Given the description of an element on the screen output the (x, y) to click on. 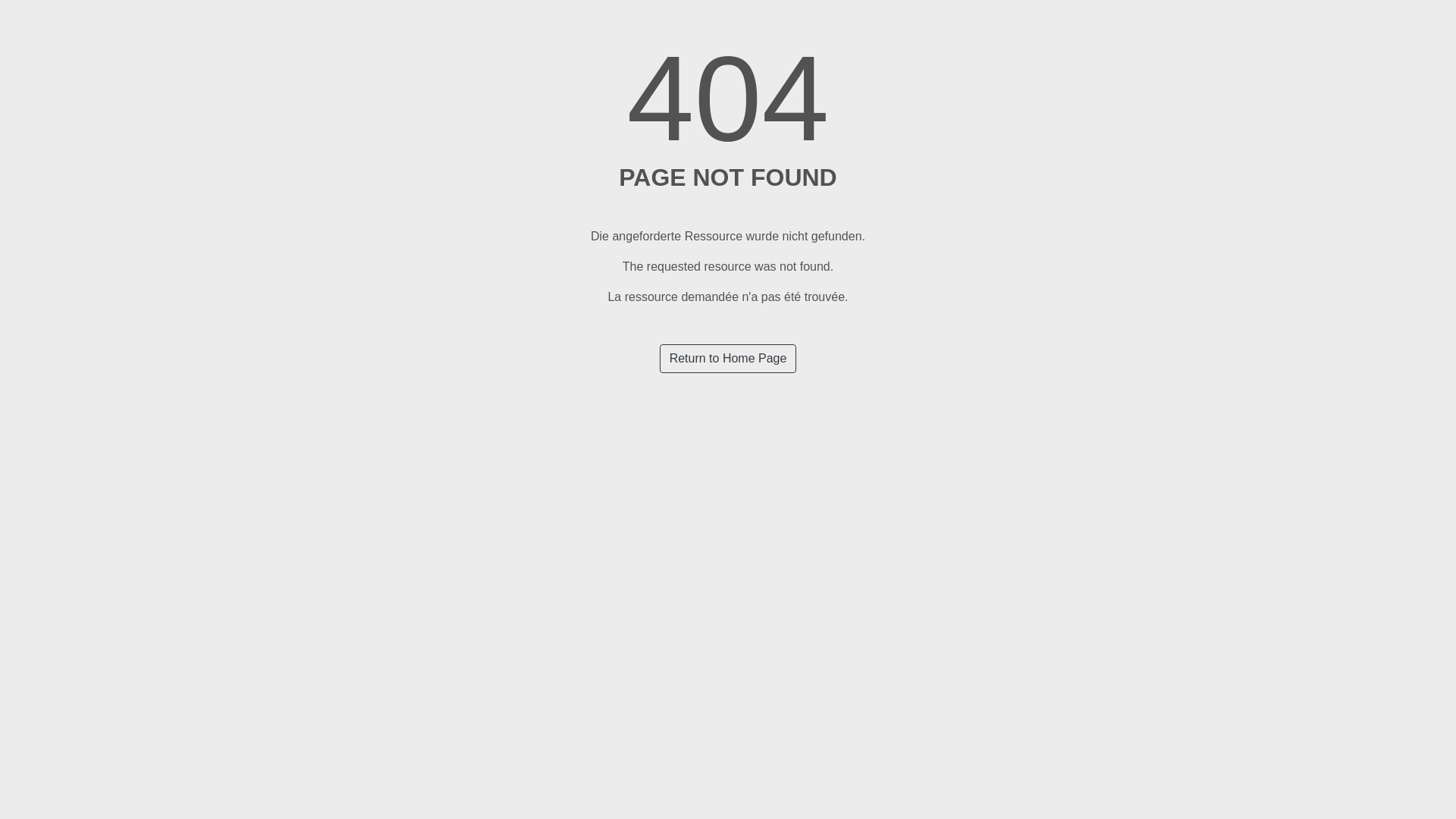
Return to Home Page Element type: text (728, 358)
